Given the description of an element on the screen output the (x, y) to click on. 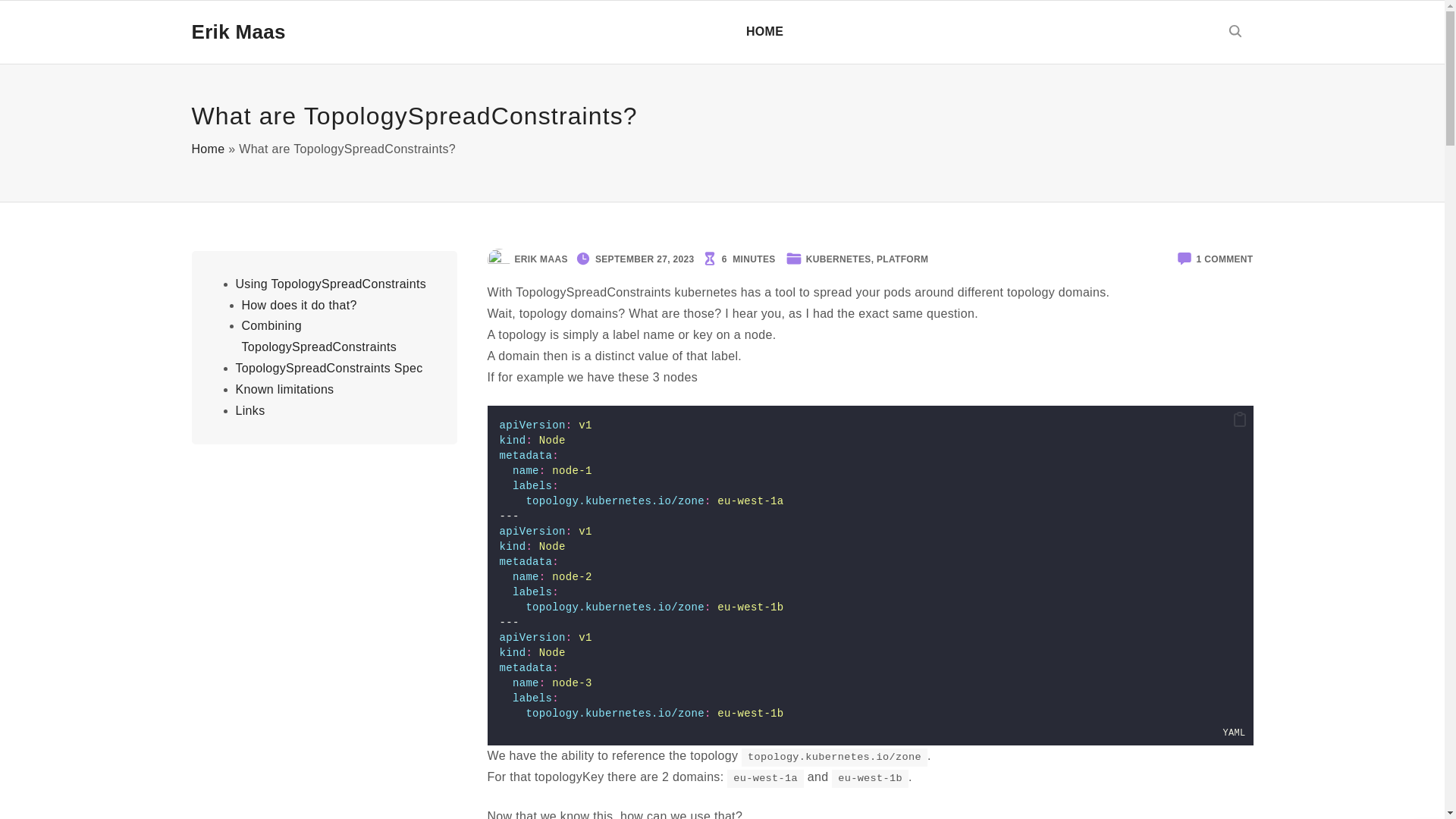
KUBERNETES (1224, 258)
Home (838, 258)
Posts by Erik Maas (207, 148)
ERIK MAAS (540, 258)
HOME (540, 258)
PLATFORM (764, 31)
Erik Maas (902, 258)
